Given the description of an element on the screen output the (x, y) to click on. 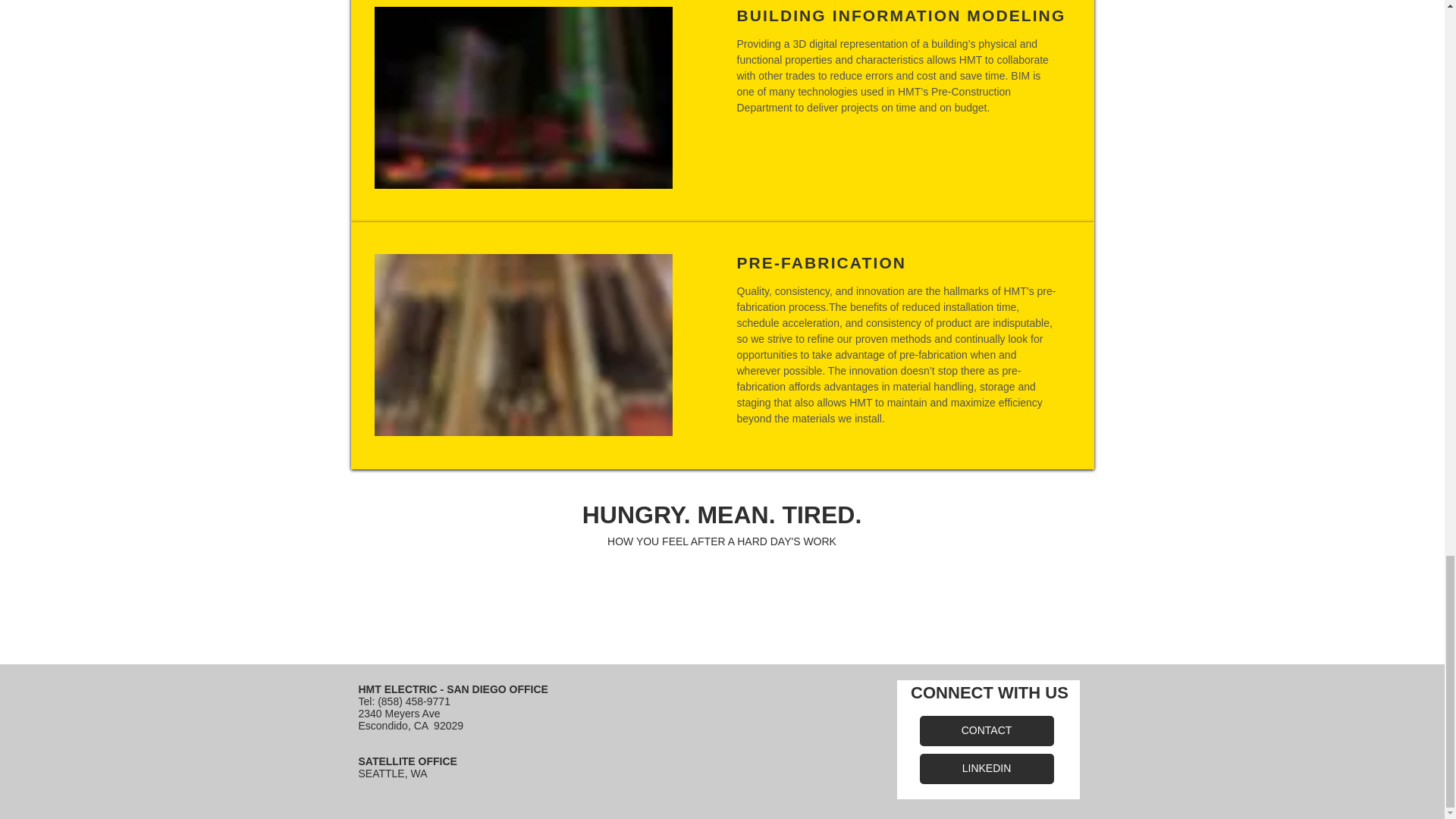
CONTACT (985, 730)
LINKEDIN (985, 768)
